Given the description of an element on the screen output the (x, y) to click on. 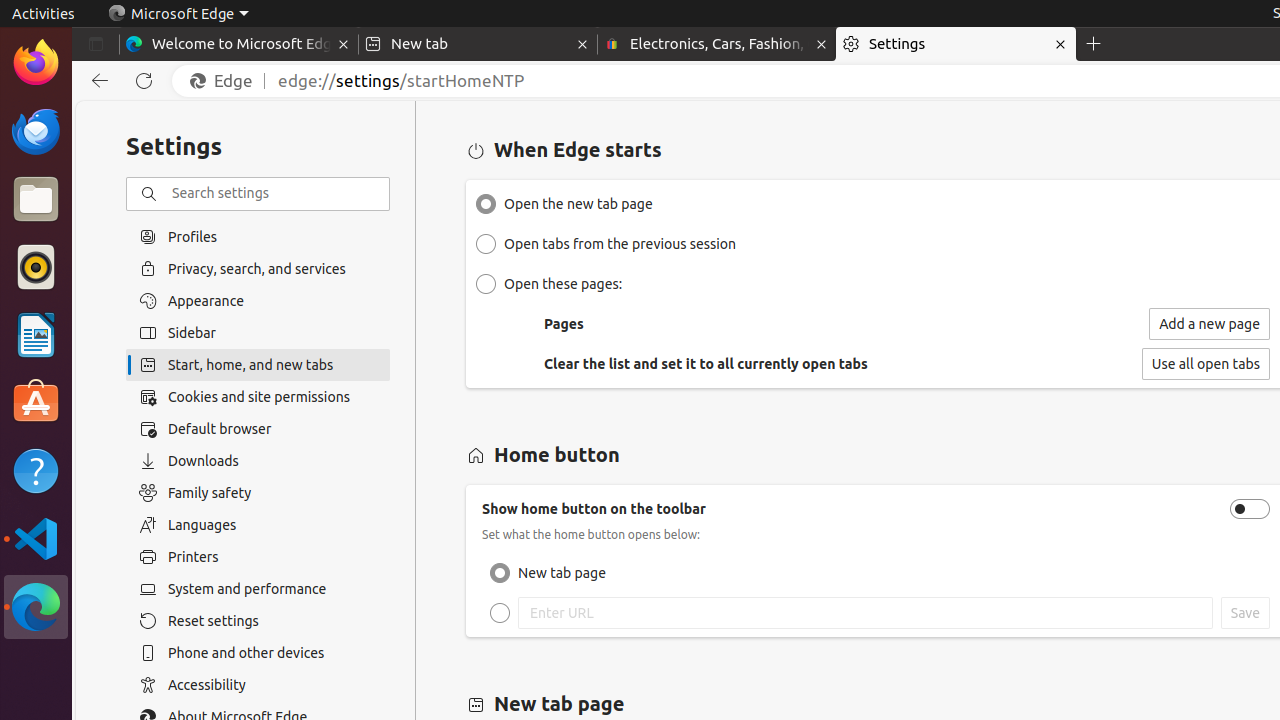
Printers Element type: tree-item (258, 557)
LibreOffice Writer Element type: push-button (36, 334)
Cookies and site permissions Element type: tree-item (258, 397)
Sidebar Element type: tree-item (258, 333)
Accessibility Element type: tree-item (258, 685)
